Given the description of an element on the screen output the (x, y) to click on. 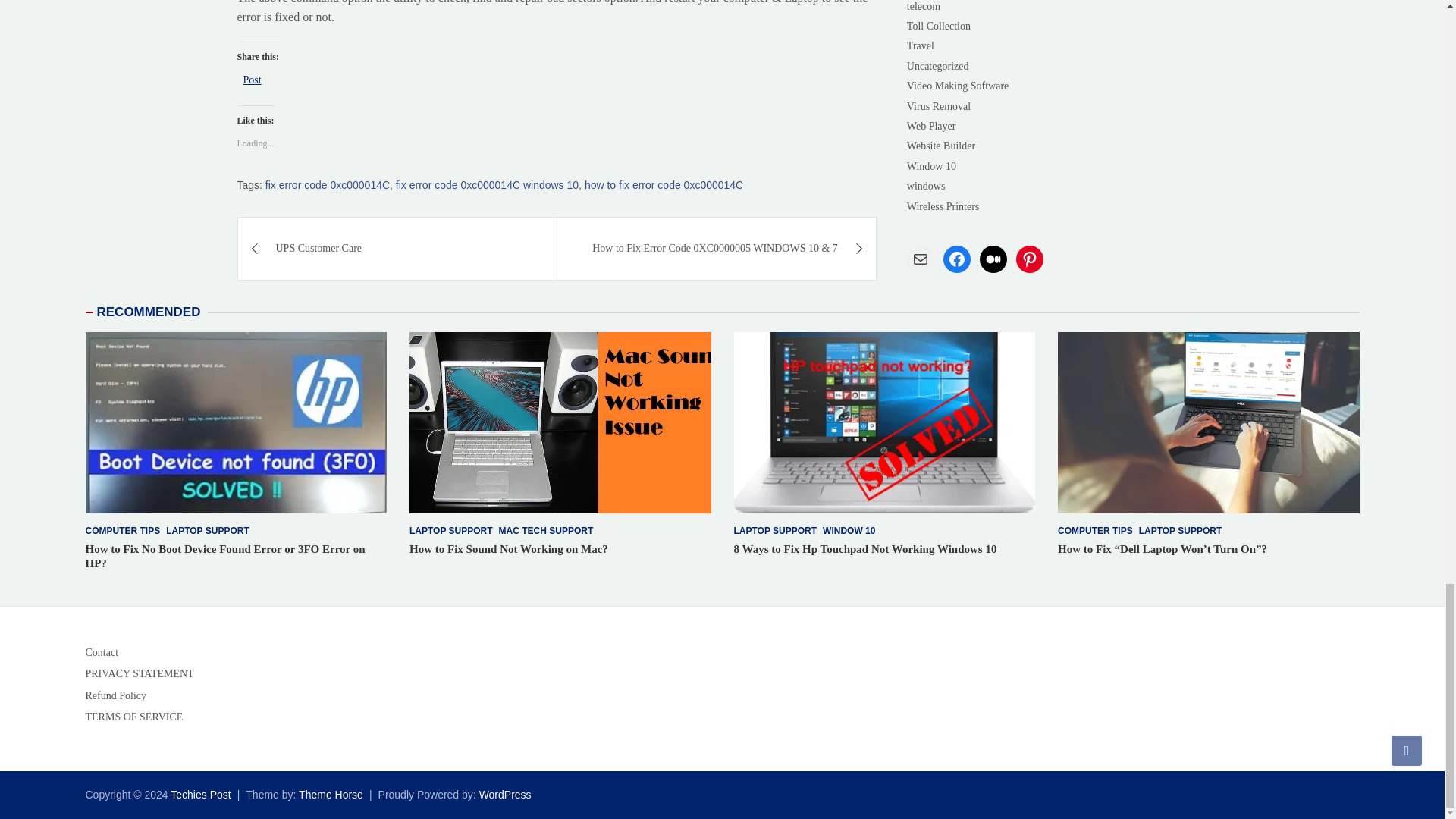
fix error code 0xc000014C windows 10 (487, 184)
Post (251, 78)
fix error code 0xc000014C (327, 184)
how to fix error code 0xc000014C (663, 184)
WordPress (505, 794)
UPS Customer Care (397, 248)
Techies Post (200, 794)
Theme Horse (330, 794)
